Given the description of an element on the screen output the (x, y) to click on. 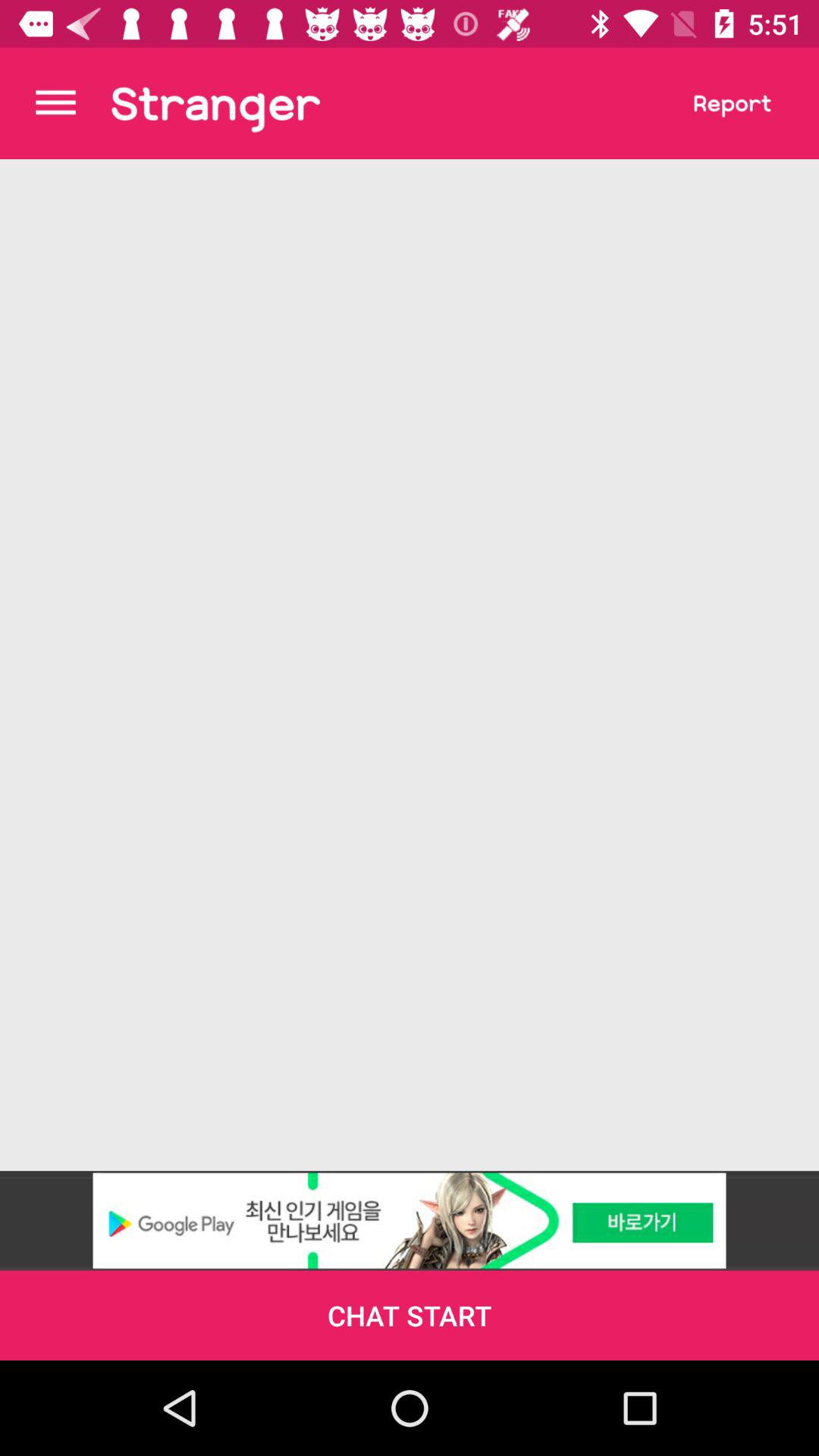
launch the item at the center (409, 665)
